Given the description of an element on the screen output the (x, y) to click on. 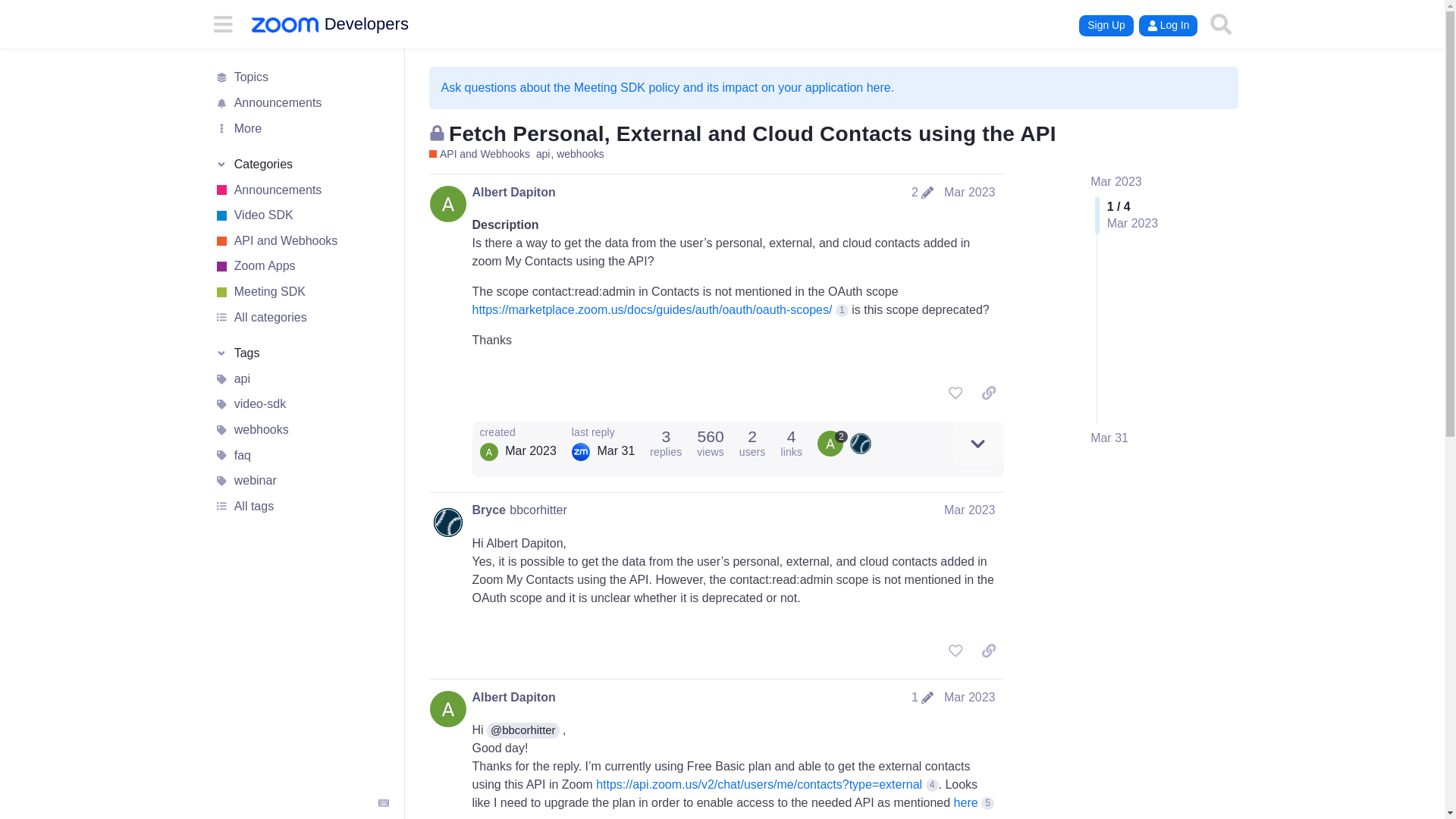
Mar 2023 (969, 192)
API and Webhooks (479, 154)
Sidebar (222, 23)
Fetch Personal, External and Cloud Contacts using the API (752, 133)
webhooks (580, 154)
Tags (301, 353)
webhooks (301, 429)
faq (301, 455)
api (301, 379)
All categories (301, 317)
api (545, 154)
Zoom Apps (301, 266)
